Given the description of an element on the screen output the (x, y) to click on. 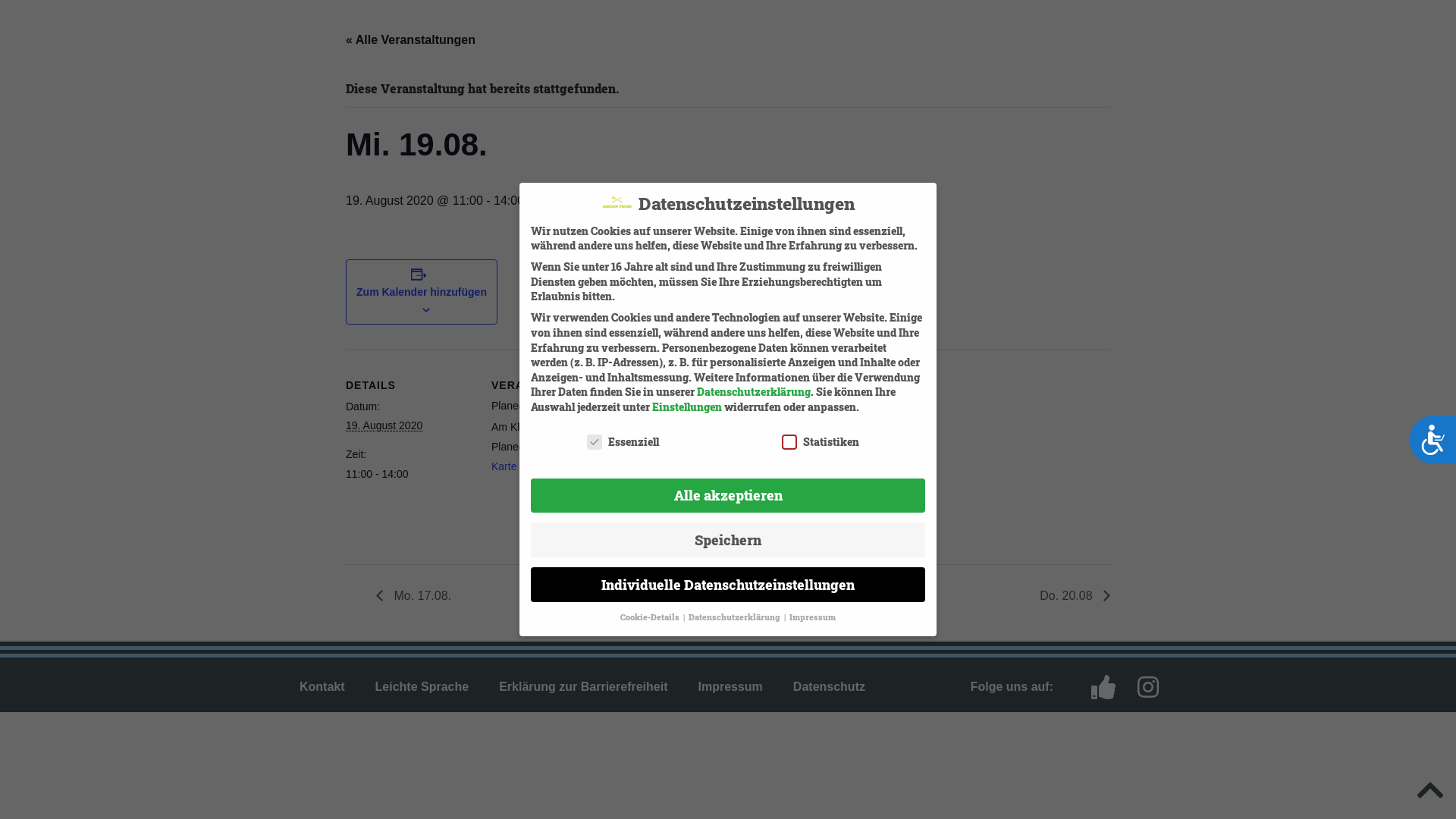
Verlinkung zu Facebook Element type: hover (1108, 686)
Impressum Element type: text (812, 616)
Datenschutz Element type: text (829, 686)
Mo. 17.08. Element type: text (417, 595)
Verlinkung zu Instagram Element type: hover (1154, 686)
Google Karte anzeigen Element type: text (546, 456)
Zum Seitenanfang Element type: hover (1430, 790)
Einstellungen Element type: text (686, 406)
Do. 20.08 Element type: text (1070, 595)
Alle akzeptieren Element type: text (727, 495)
Facebook Seite von Bayern-Truck Element type: hover (1423, 36)
Leichte Sprache Element type: text (422, 686)
Cookie-Details Element type: text (650, 616)
Speichern Element type: text (727, 539)
Impressum Element type: text (729, 686)
Individuelle Datenschutzeinstellungen Element type: text (727, 584)
Kontakt Element type: text (322, 686)
Instagram Seite von Bayern-Truck Element type: hover (1423, 72)
